Given the description of an element on the screen output the (x, y) to click on. 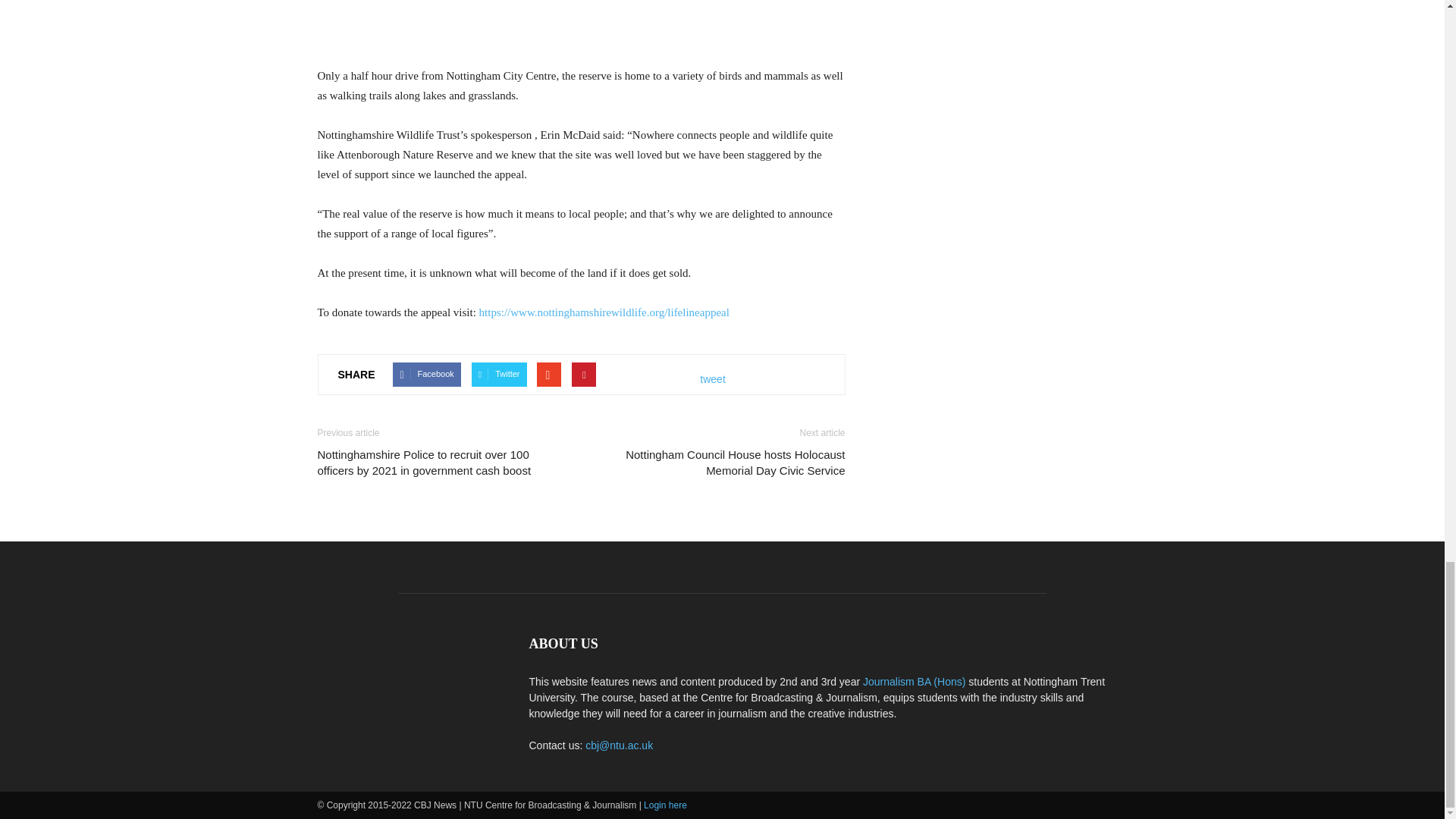
Twitter (499, 374)
Facebook (426, 374)
tweet (712, 379)
